Given the description of an element on the screen output the (x, y) to click on. 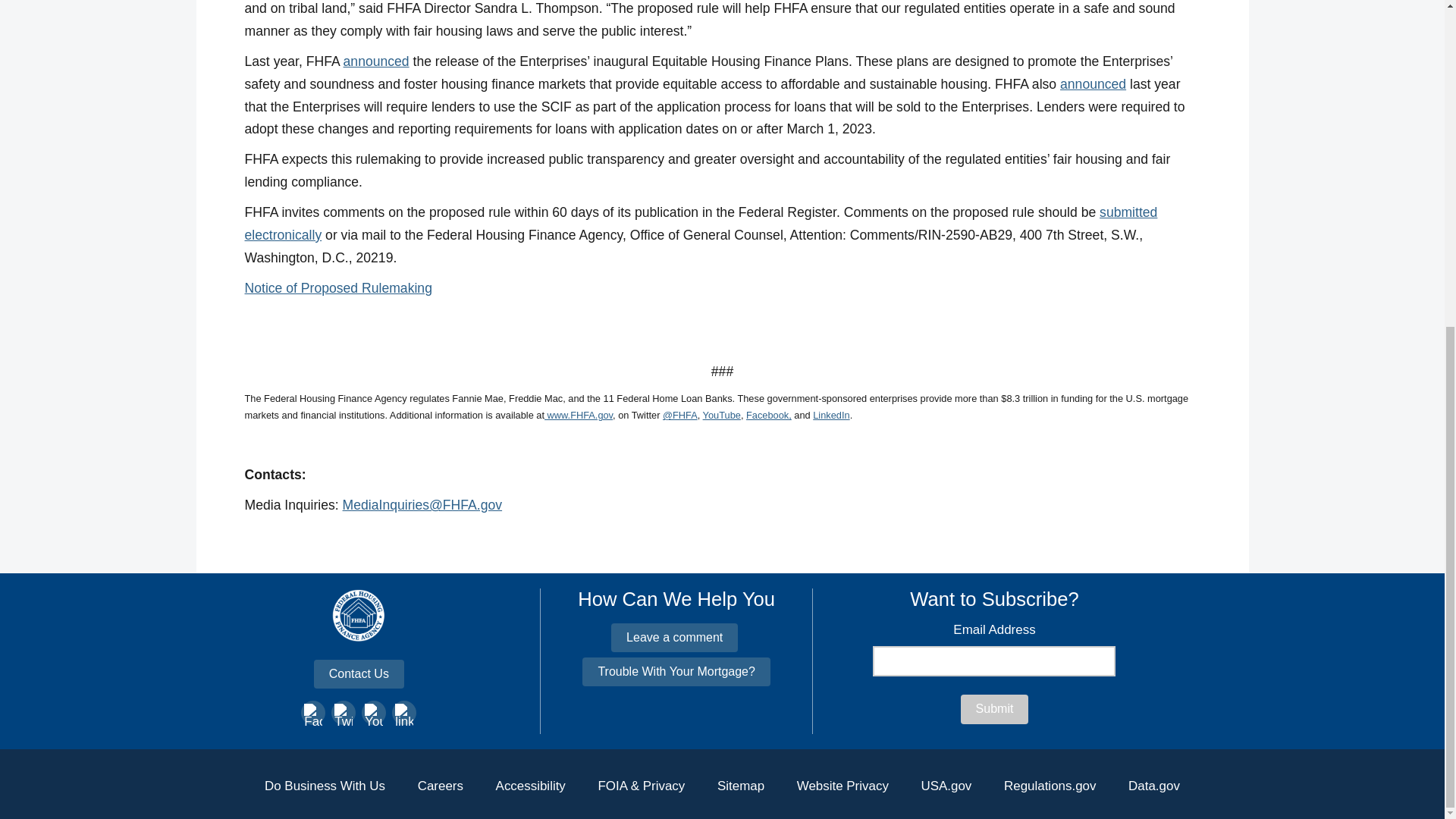
Careers (440, 785)
Submit (994, 708)
Submit (994, 708)
Accessibility (530, 785)
LinkedIn (830, 414)
Link goes to an external web page. (768, 414)
General Questions and Comments Form (674, 637)
Sitemap (740, 785)
Facebook, (768, 414)
Contact Us (359, 674)
Contact Us (359, 674)
Regulations.gov (1050, 785)
USA.gov (945, 785)
YouTube (722, 414)
